Given the description of an element on the screen output the (x, y) to click on. 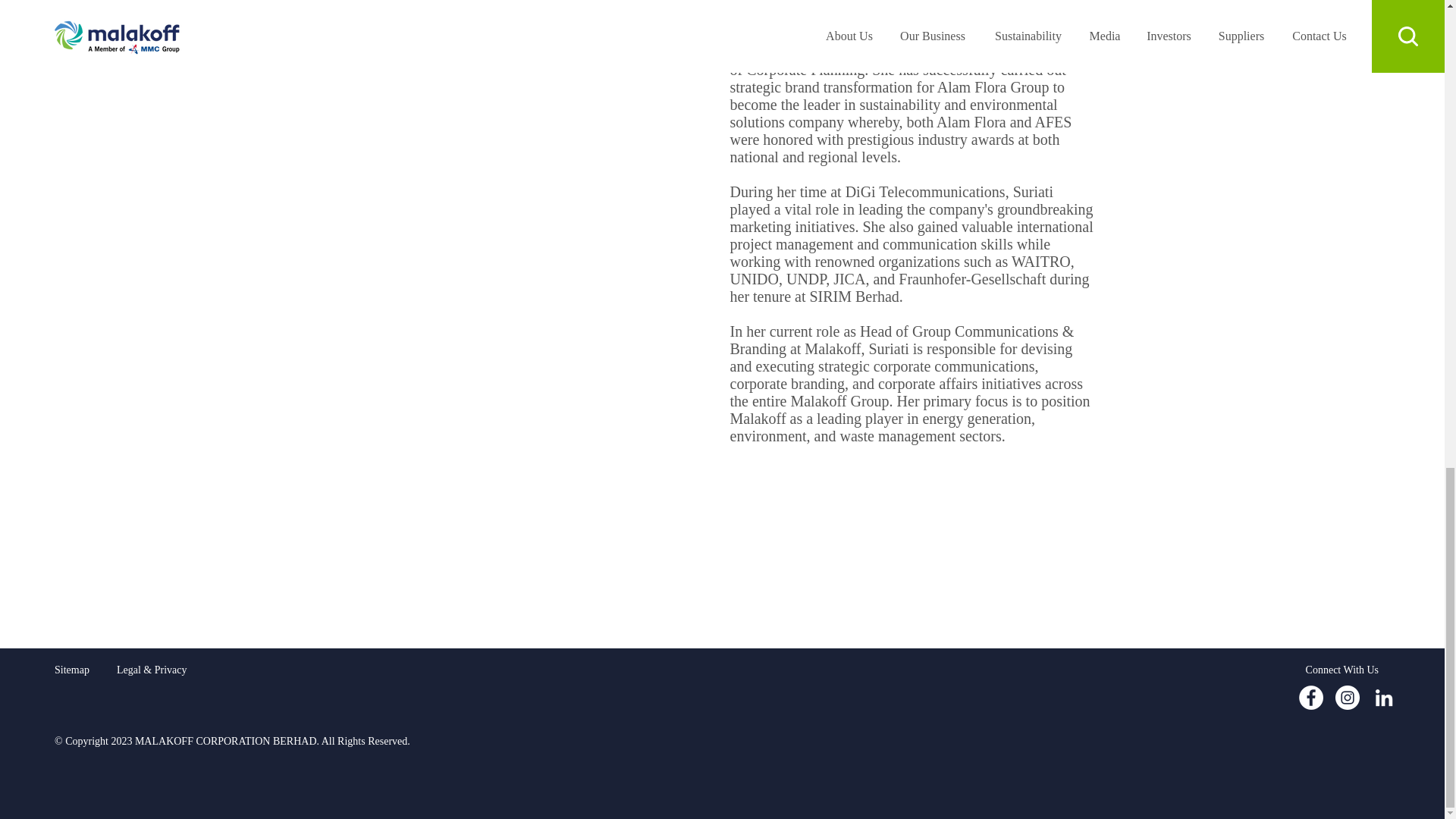
Suriati Mohammad Mokhtar (534, 32)
